Given the description of an element on the screen output the (x, y) to click on. 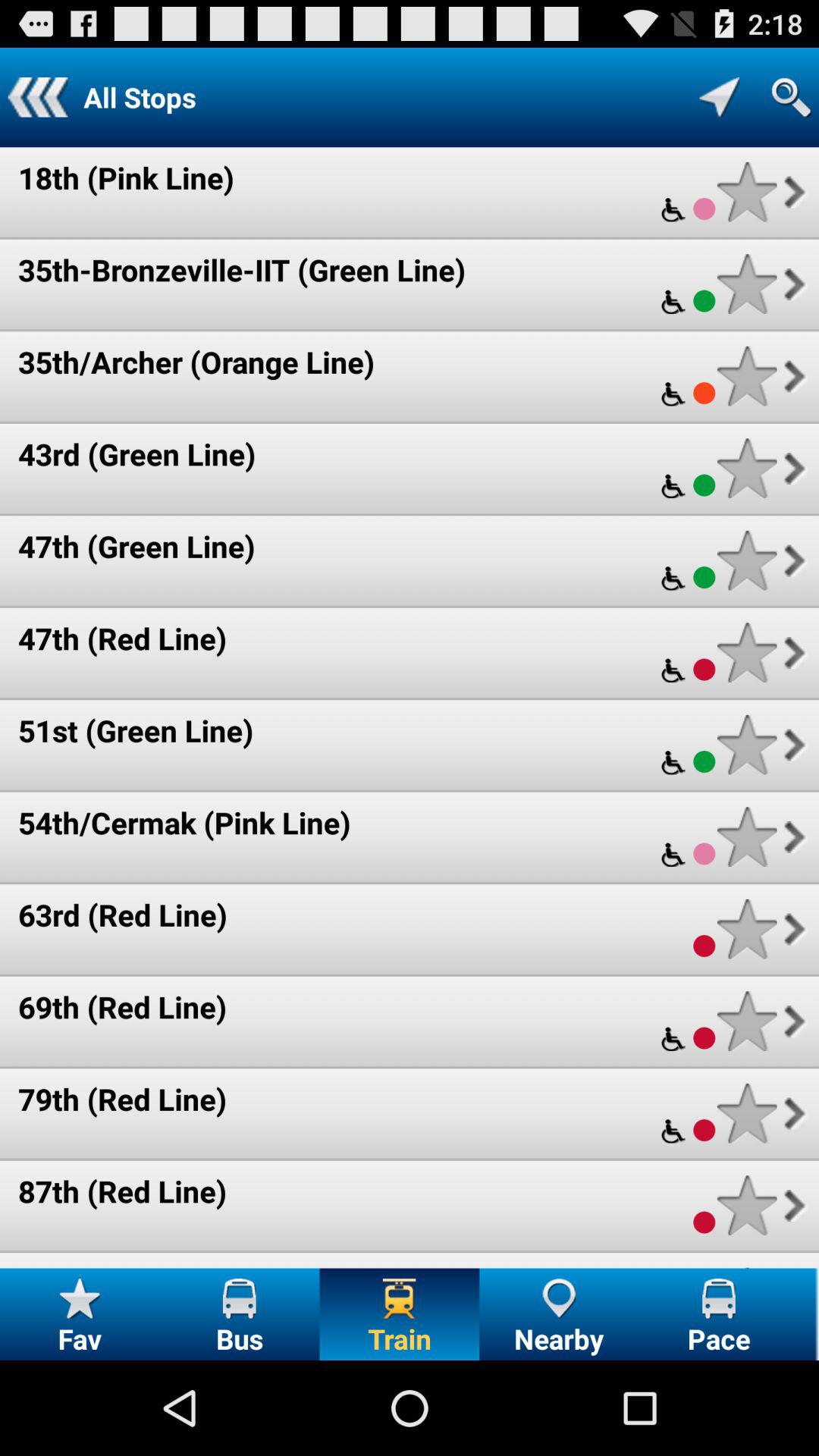
add to favorites (746, 1113)
